Given the description of an element on the screen output the (x, y) to click on. 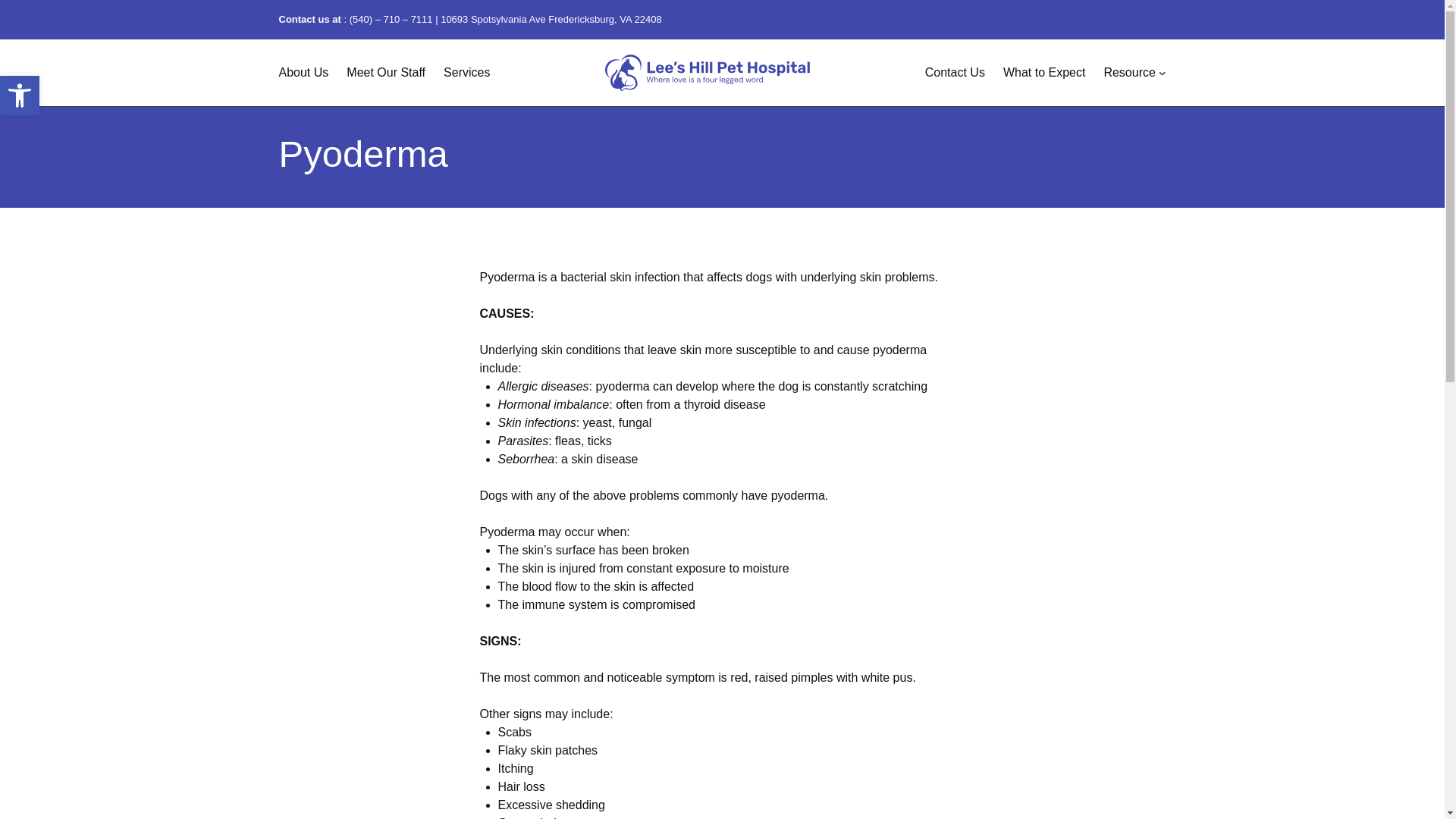
Services (466, 72)
Accessibility Tools (19, 95)
About Us (304, 72)
Resource (1128, 72)
Meet Our Staff (385, 72)
